Given the description of an element on the screen output the (x, y) to click on. 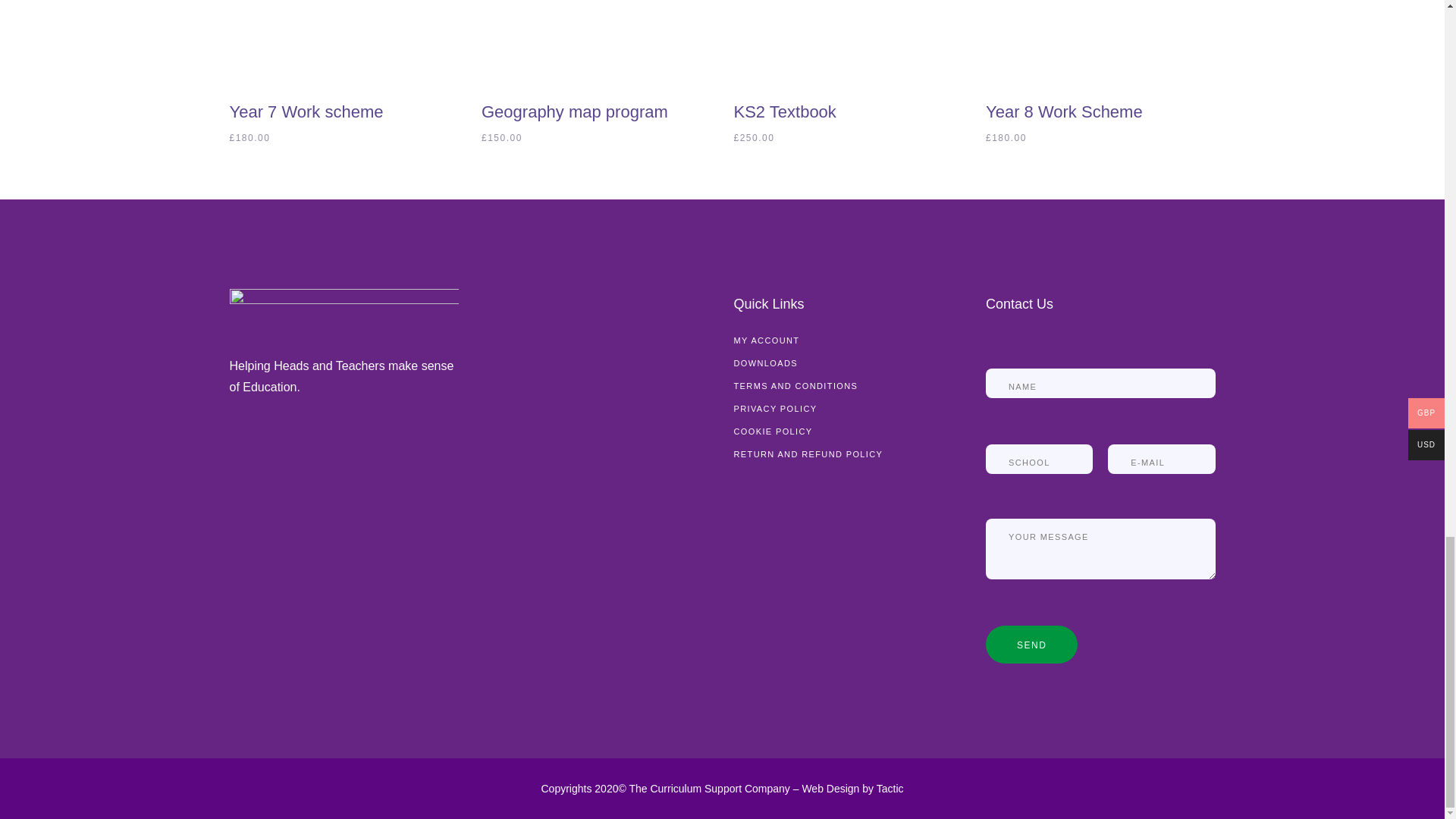
SEND (1031, 644)
